Given the description of an element on the screen output the (x, y) to click on. 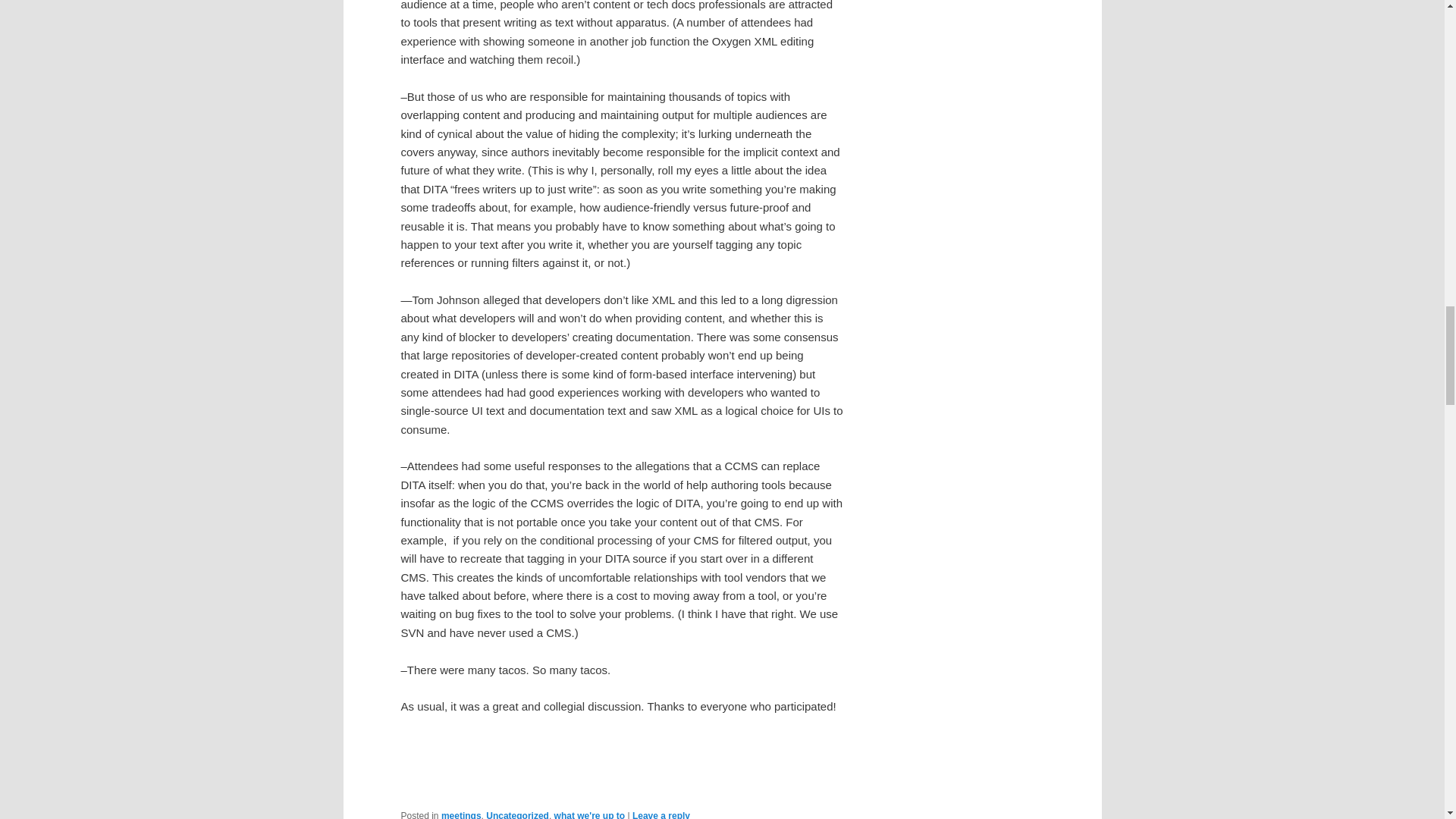
meetings (461, 814)
what we're up to (590, 814)
Uncategorized (517, 814)
Leave a reply (660, 814)
